Given the description of an element on the screen output the (x, y) to click on. 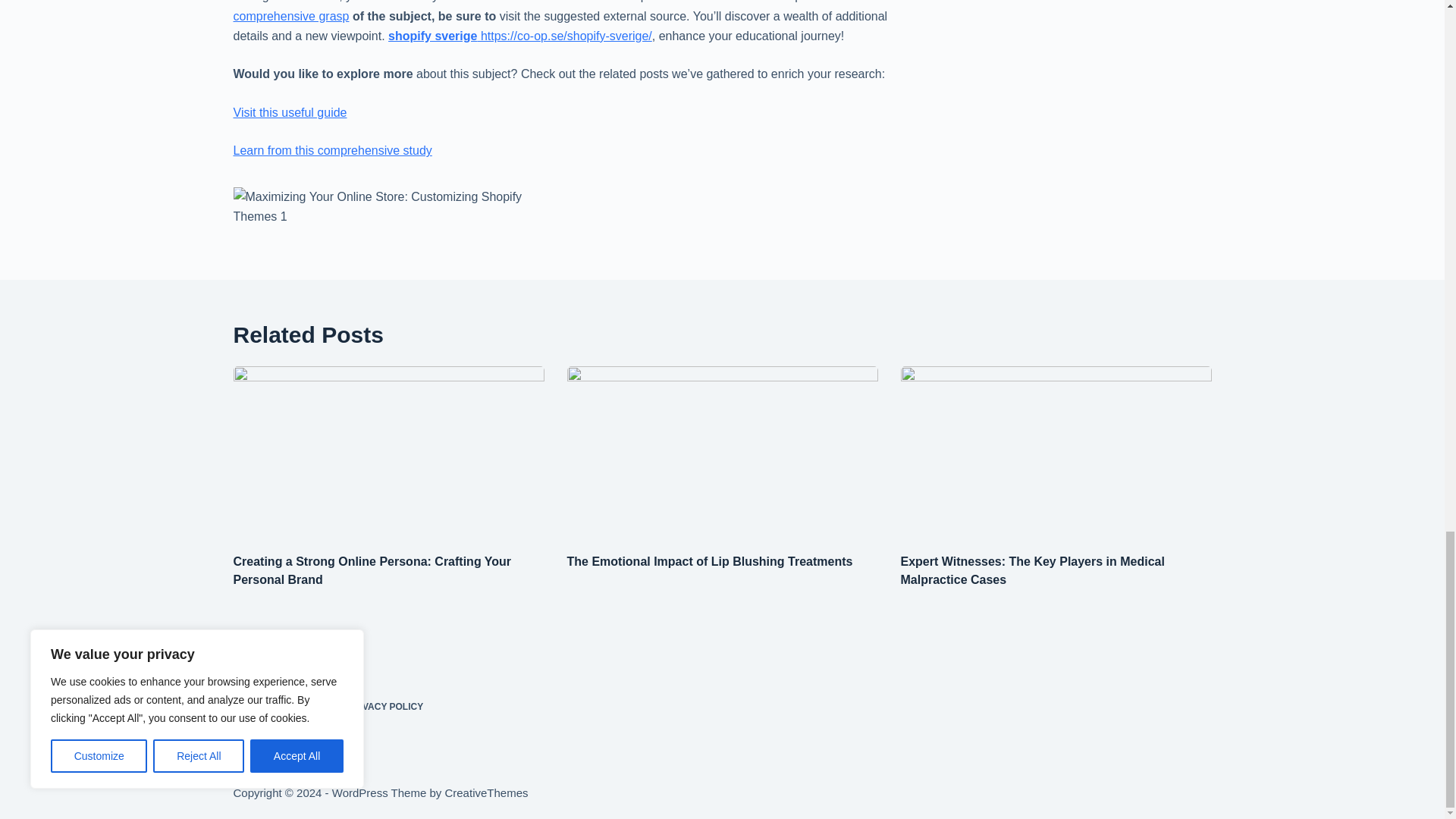
Learn from this comprehensive study (332, 150)
comprehensive grasp (290, 15)
Visit this useful guide (289, 112)
